Given the description of an element on the screen output the (x, y) to click on. 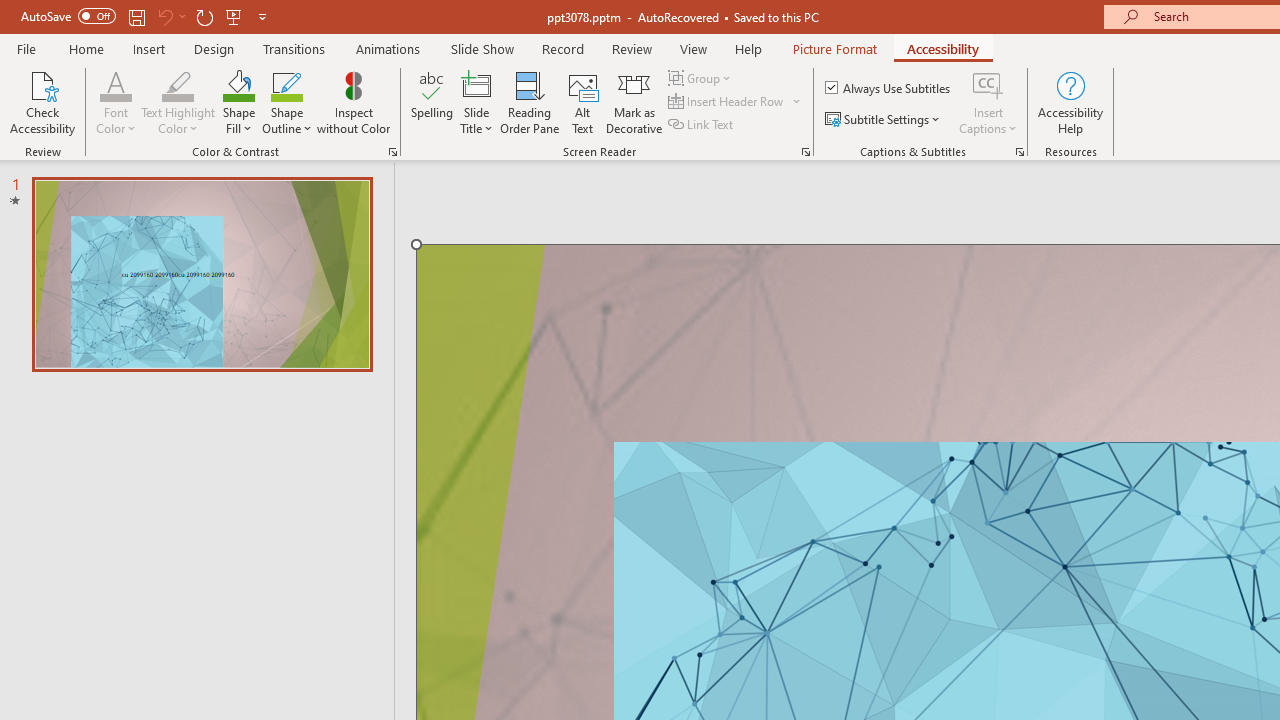
Accessibility Help (1070, 102)
Picture Format (834, 48)
